Given the description of an element on the screen output the (x, y) to click on. 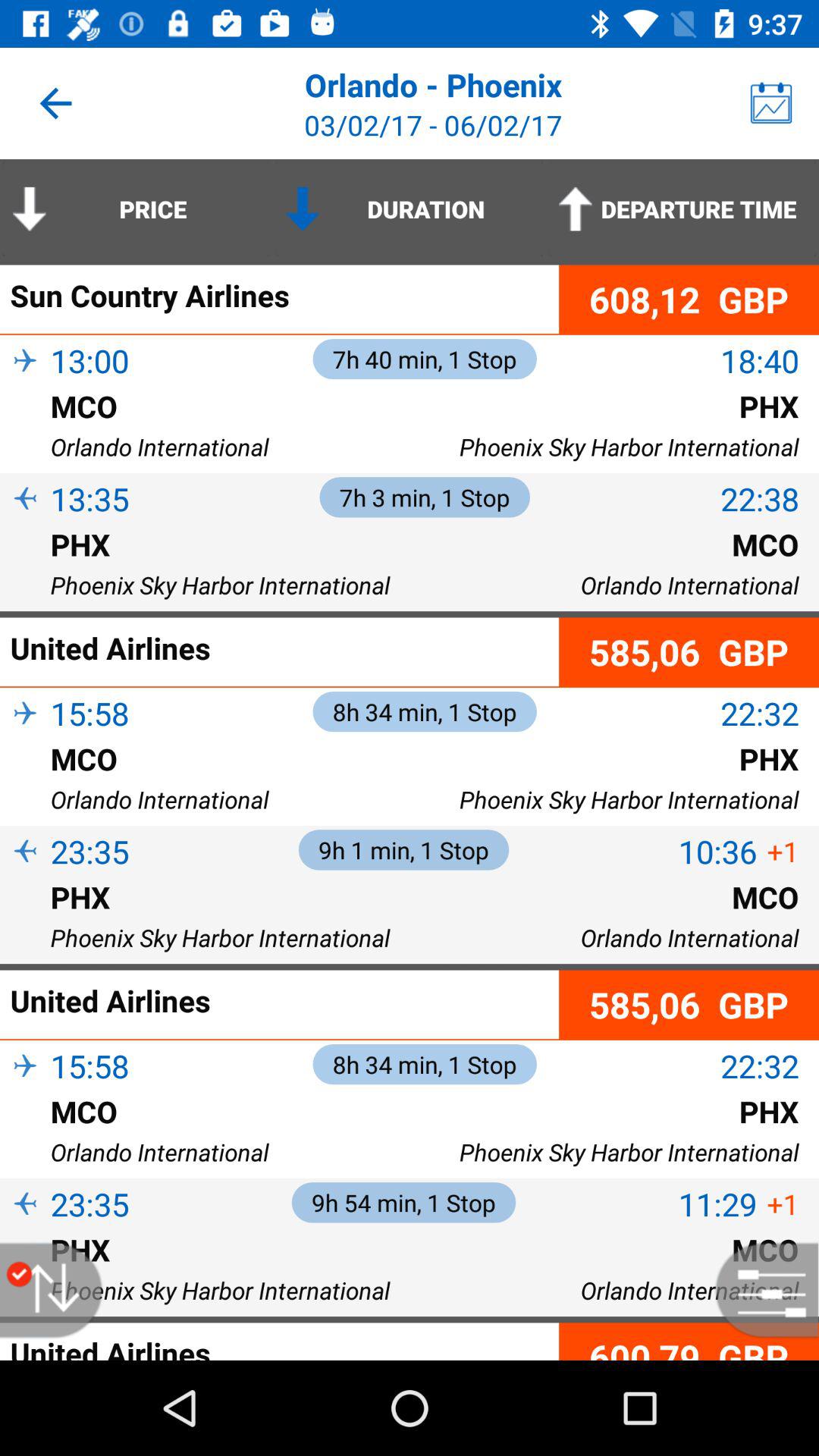
launch the item above the departure time (771, 103)
